Given the description of an element on the screen output the (x, y) to click on. 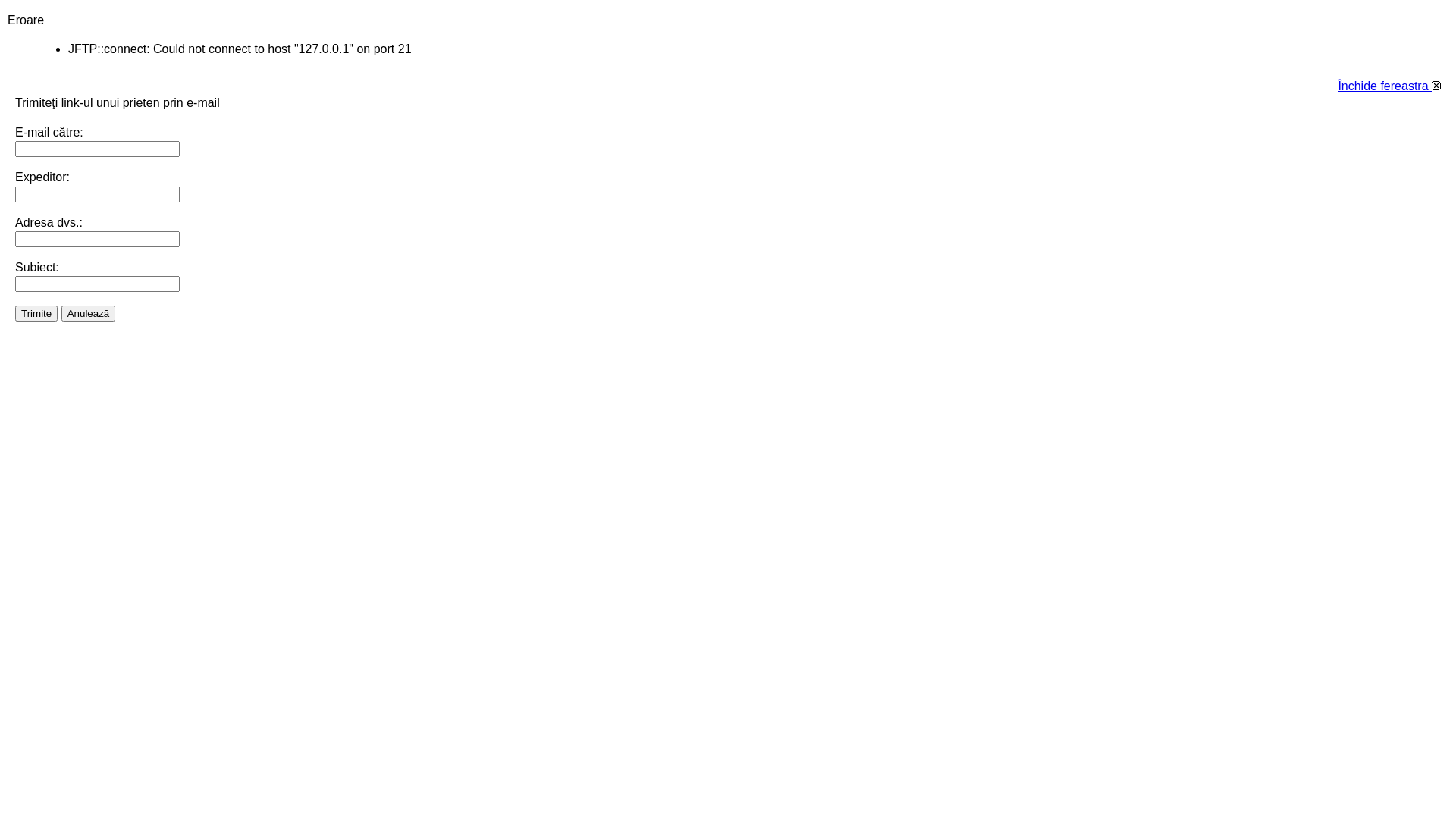
Trimite Element type: text (36, 312)
